Given the description of an element on the screen output the (x, y) to click on. 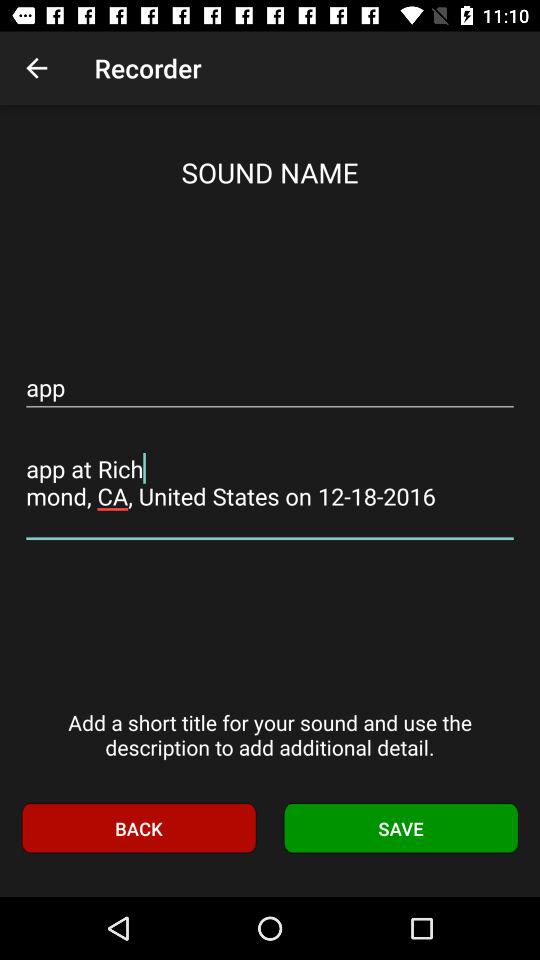
tap item below the add a short (401, 828)
